Given the description of an element on the screen output the (x, y) to click on. 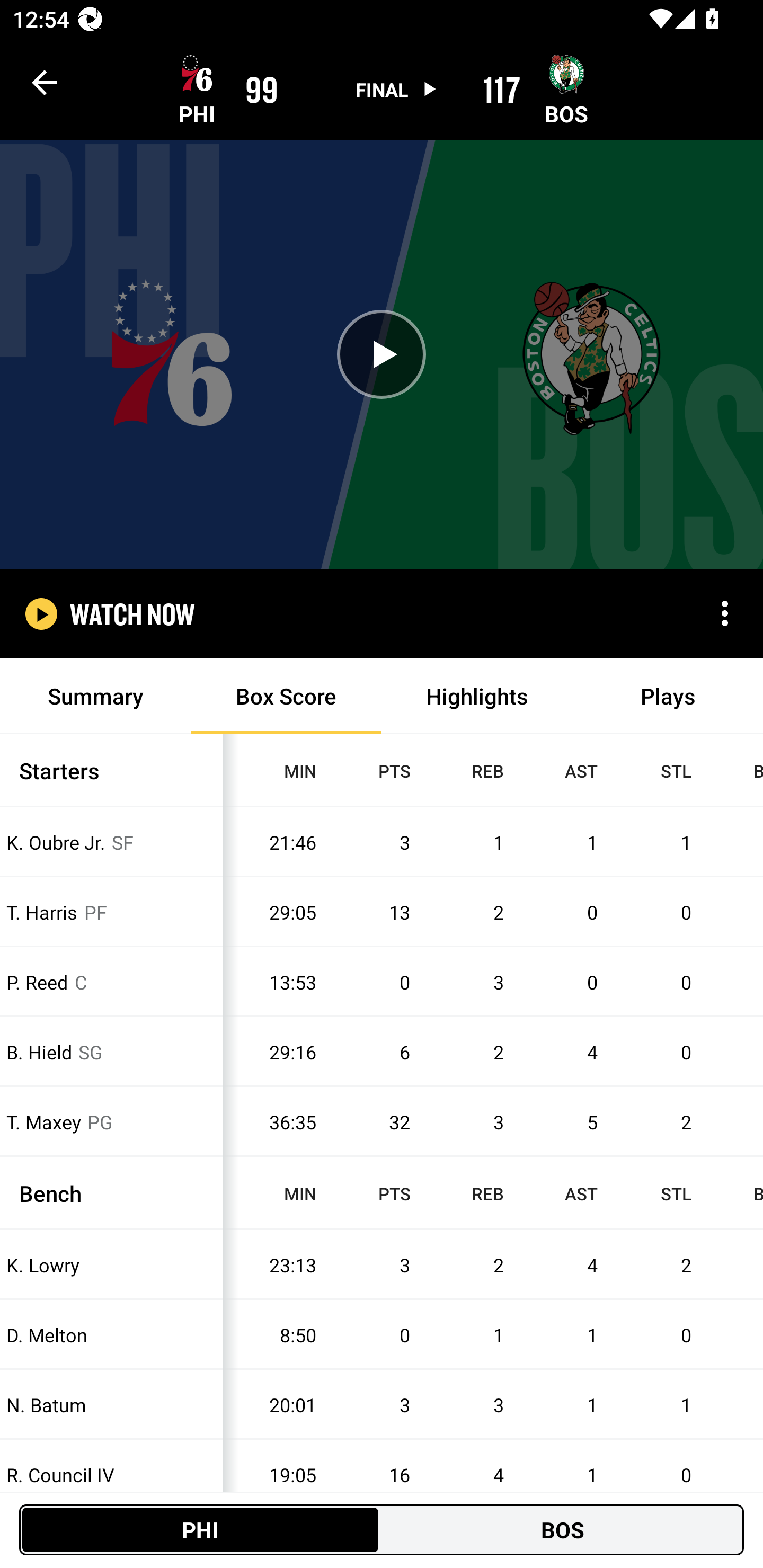
Navigate up (44, 82)
More options (724, 613)
WATCH NOW (132, 613)
Summary (95, 695)
Highlights (476, 695)
Plays (667, 695)
K. Oubre Jr. SF (111, 841)
T. Harris PF (111, 911)
P. Reed C (111, 982)
B. Hield SG (111, 1051)
T. Maxey PG (111, 1121)
K. Lowry (111, 1264)
D. Melton (111, 1334)
N. Batum (111, 1404)
R. Council IV (111, 1474)
BOS (562, 1529)
